Given the description of an element on the screen output the (x, y) to click on. 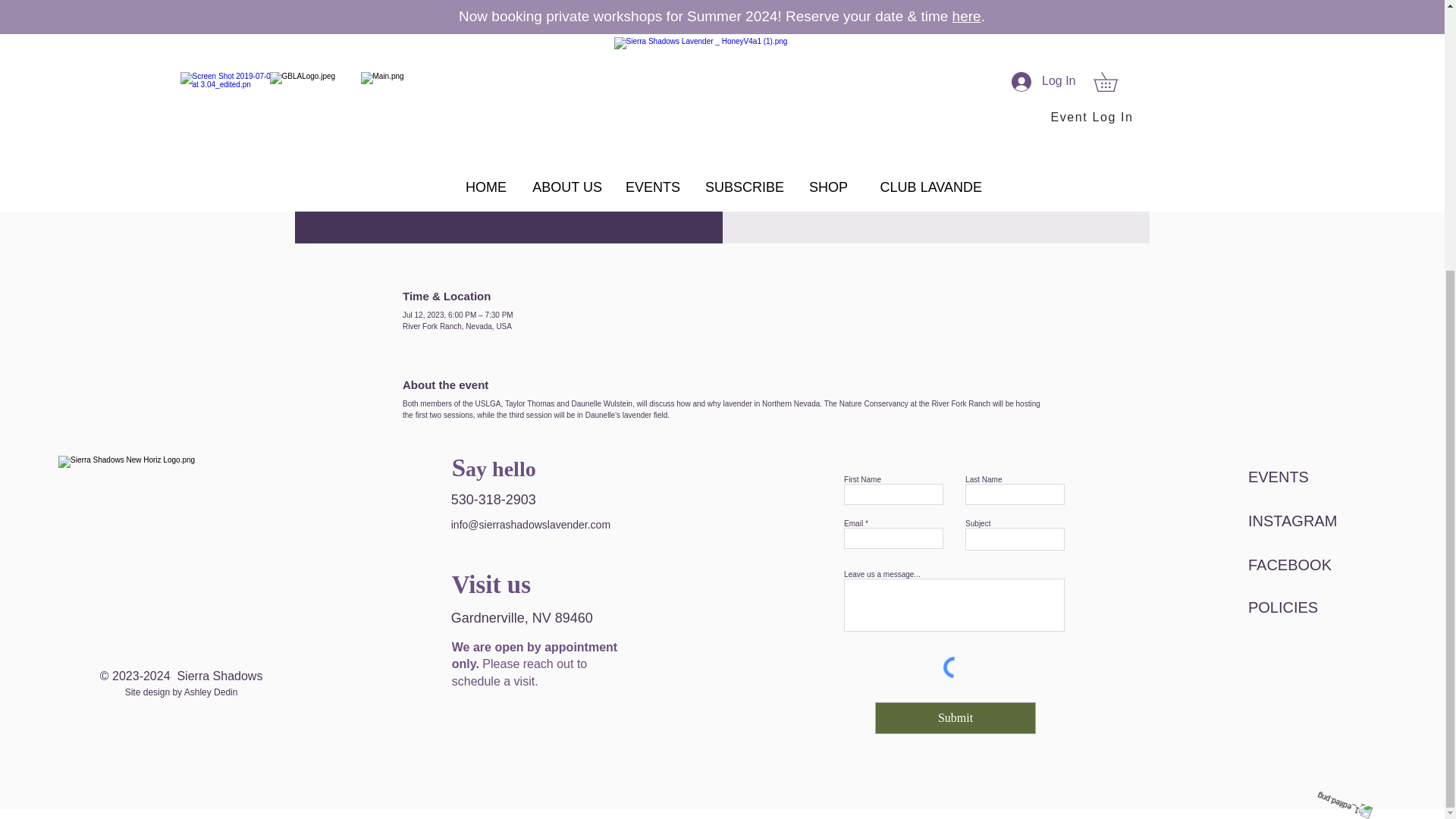
Submit (955, 717)
INSTAGRAM (1301, 521)
POLICIES (1301, 607)
FACEBOOK (1301, 564)
See other events (935, 84)
EVENTS (1301, 476)
Site design by Ashley Dedin (181, 692)
